Given the description of an element on the screen output the (x, y) to click on. 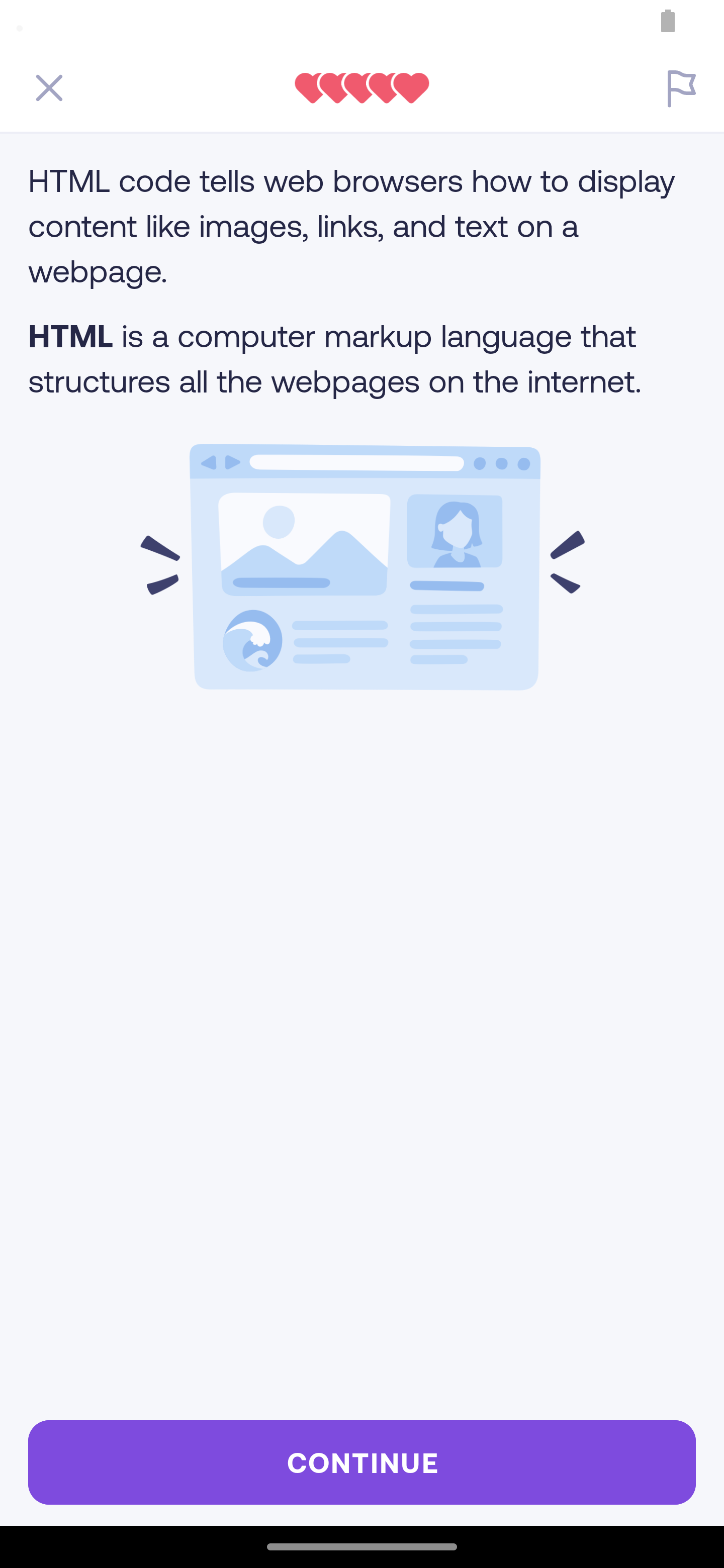
CONTINUE (361, 1462)
